Given the description of an element on the screen output the (x, y) to click on. 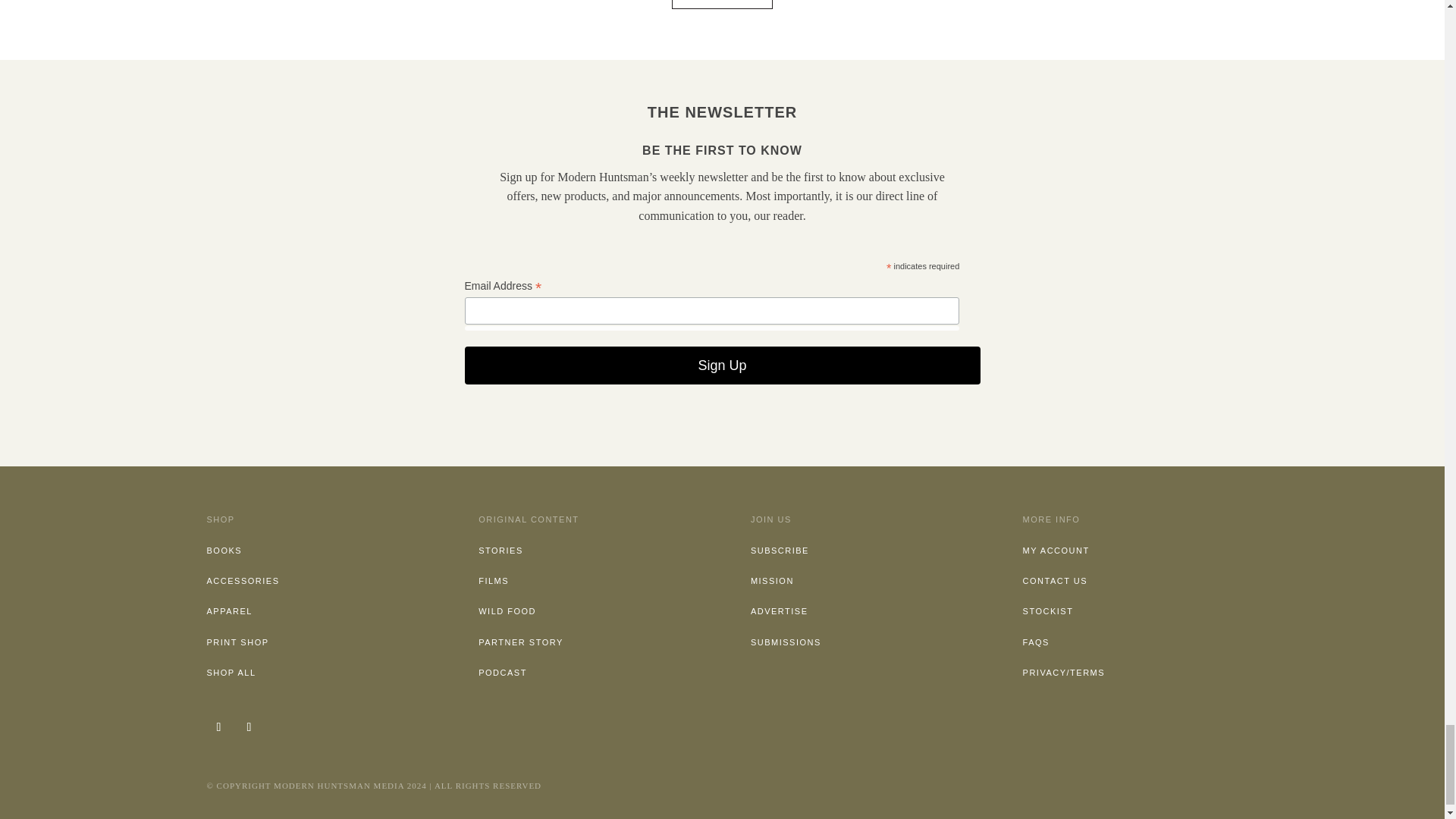
Follow on Facebook (247, 726)
Follow on Instagram (218, 726)
Sign Up (721, 365)
